Given the description of an element on the screen output the (x, y) to click on. 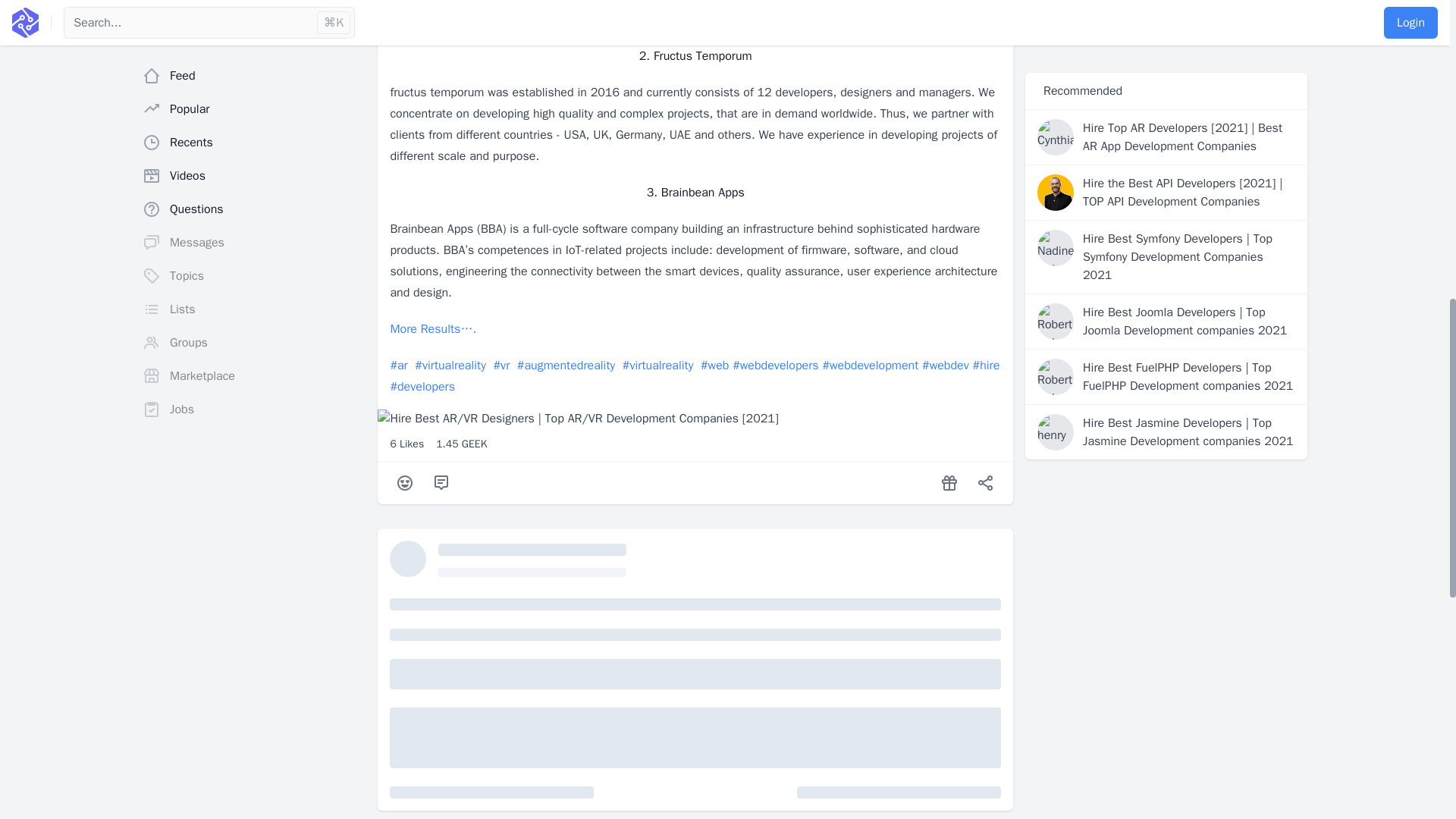
Like (405, 482)
Send me a coffee (948, 482)
Write a comment (441, 482)
Share (986, 482)
